Given the description of an element on the screen output the (x, y) to click on. 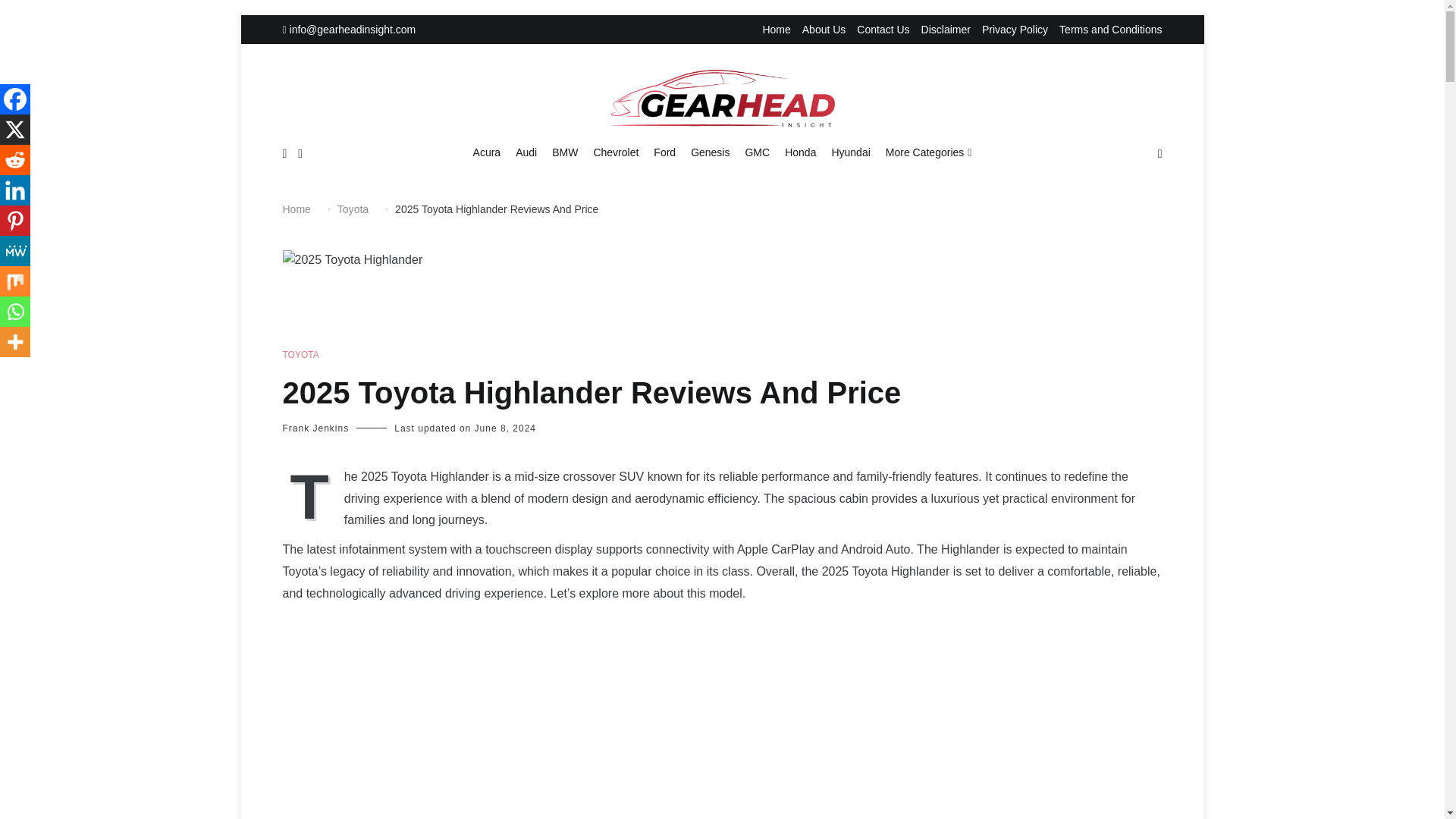
T (312, 494)
Disclaimer (946, 29)
Gearhead Insight: Latest Auto Reviews and Industry Updates (839, 169)
About Us (823, 29)
Chevrolet (615, 153)
Home (775, 29)
More Categories (928, 153)
Contact Us (882, 29)
Genesis (709, 153)
